Given the description of an element on the screen output the (x, y) to click on. 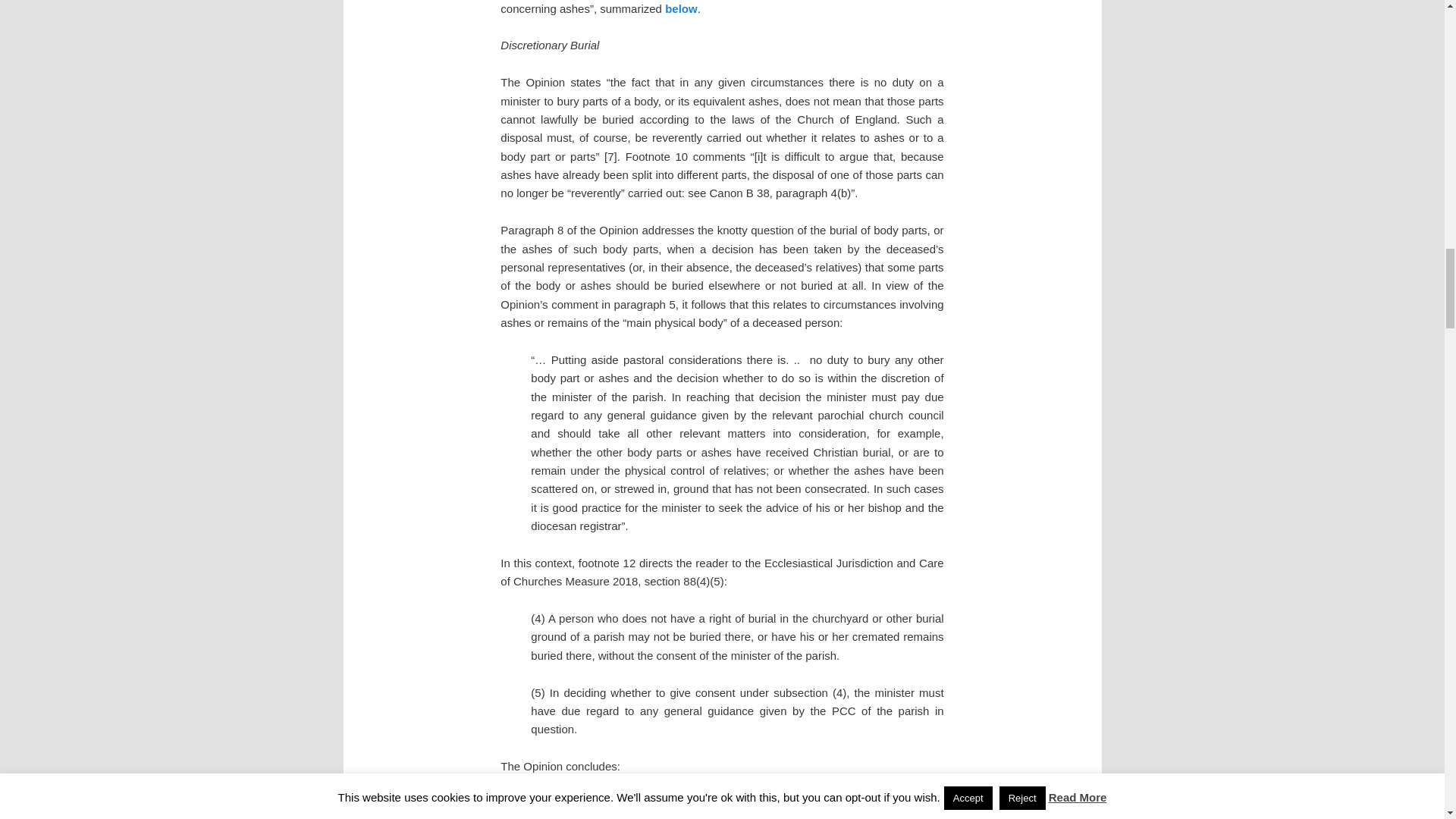
below (681, 8)
